Given the description of an element on the screen output the (x, y) to click on. 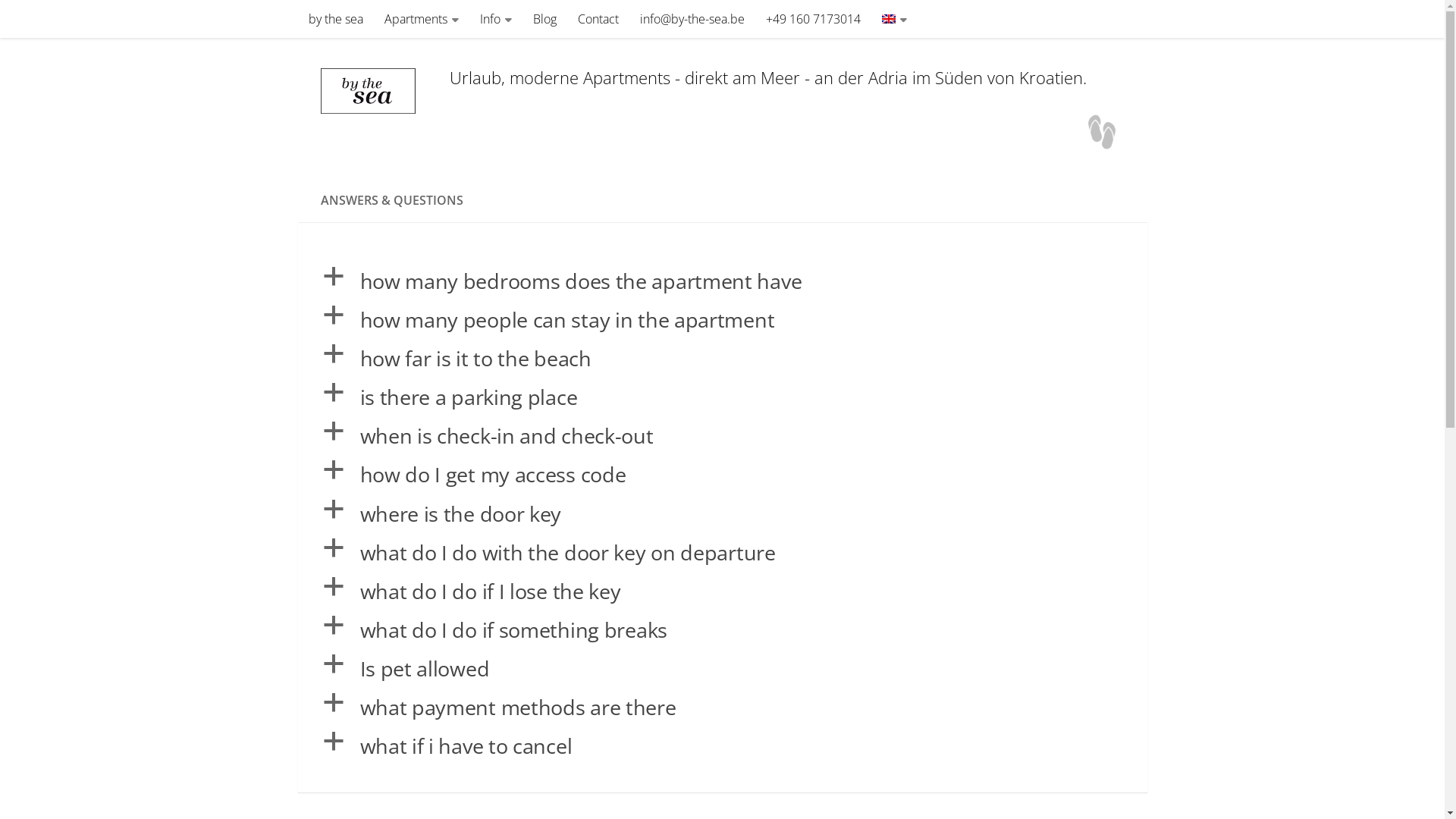
a
where is the door key Element type: text (721, 513)
a
when is check-in and check-out Element type: text (721, 435)
a
what do I do if I lose the key Element type: text (721, 591)
a
how many bedrooms does the apartment have Element type: text (721, 280)
Apartments Element type: text (420, 18)
Contact Element type: text (598, 18)
a
what payment methods are there Element type: text (721, 707)
by the sea Element type: text (335, 18)
a
how far is it to the beach Element type: text (721, 358)
Blog Element type: text (543, 18)
a
how do I get my access code Element type: text (721, 474)
a
Is pet allowed Element type: text (721, 668)
Info Element type: text (494, 18)
a
what do I do with the door key on departure Element type: text (721, 552)
a
is there a parking place Element type: text (721, 396)
Skip to content Element type: text (64, 22)
info@by-the-sea.be Element type: text (692, 18)
a
what do I do if something breaks Element type: text (721, 629)
a
how many people can stay in the apartment Element type: text (721, 319)
by the sea | Home page Element type: hover (376, 90)
a
what if i have to cancel Element type: text (721, 745)
